Given the description of an element on the screen output the (x, y) to click on. 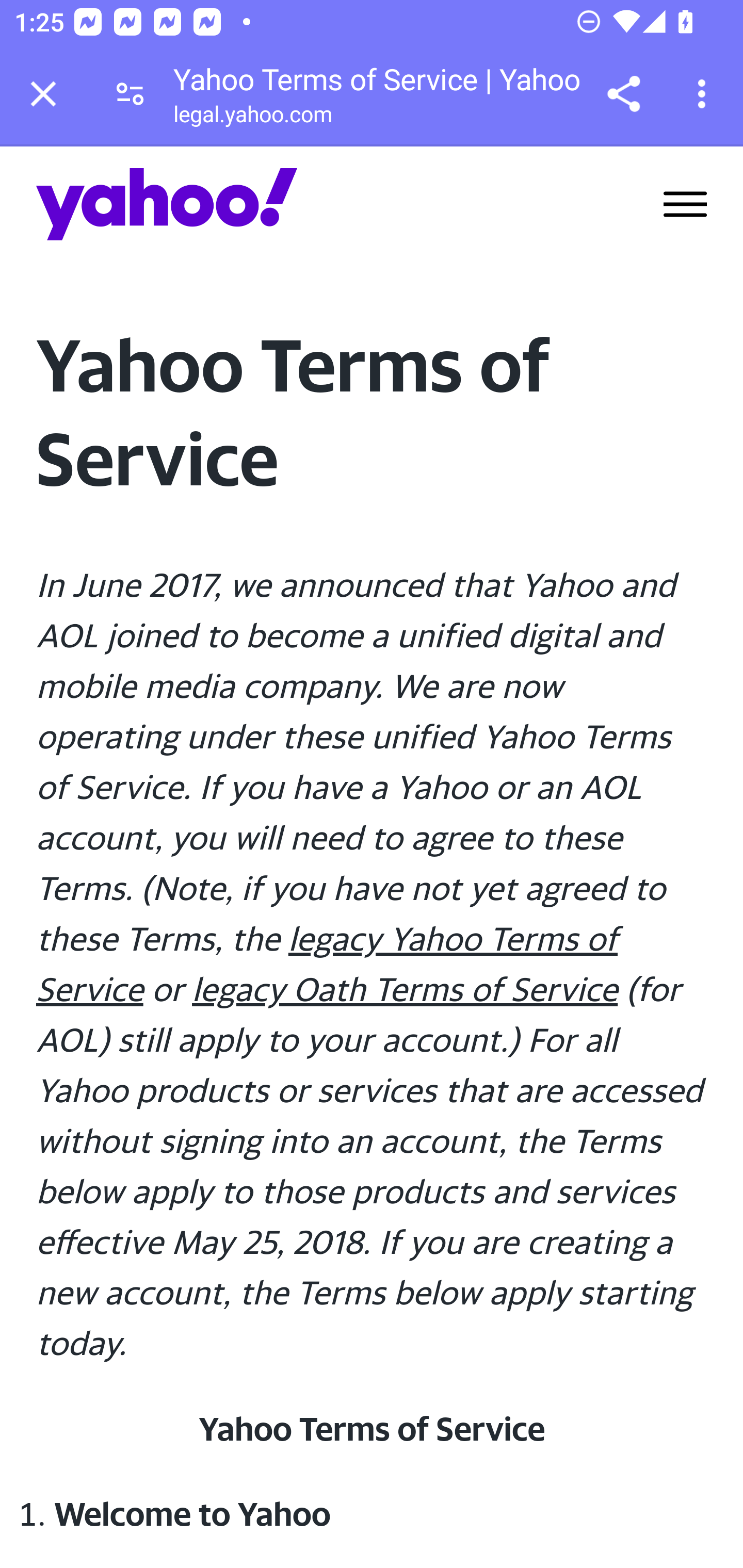
Close tab (43, 93)
Share (623, 93)
Customize and control Google Chrome (705, 93)
Connection is secure (129, 93)
legal.yahoo.com (252, 117)
Yahoo logo (166, 203)
legacy Yahoo Terms of Service (327, 963)
legacy Oath Terms of Service (404, 988)
